Given the description of an element on the screen output the (x, y) to click on. 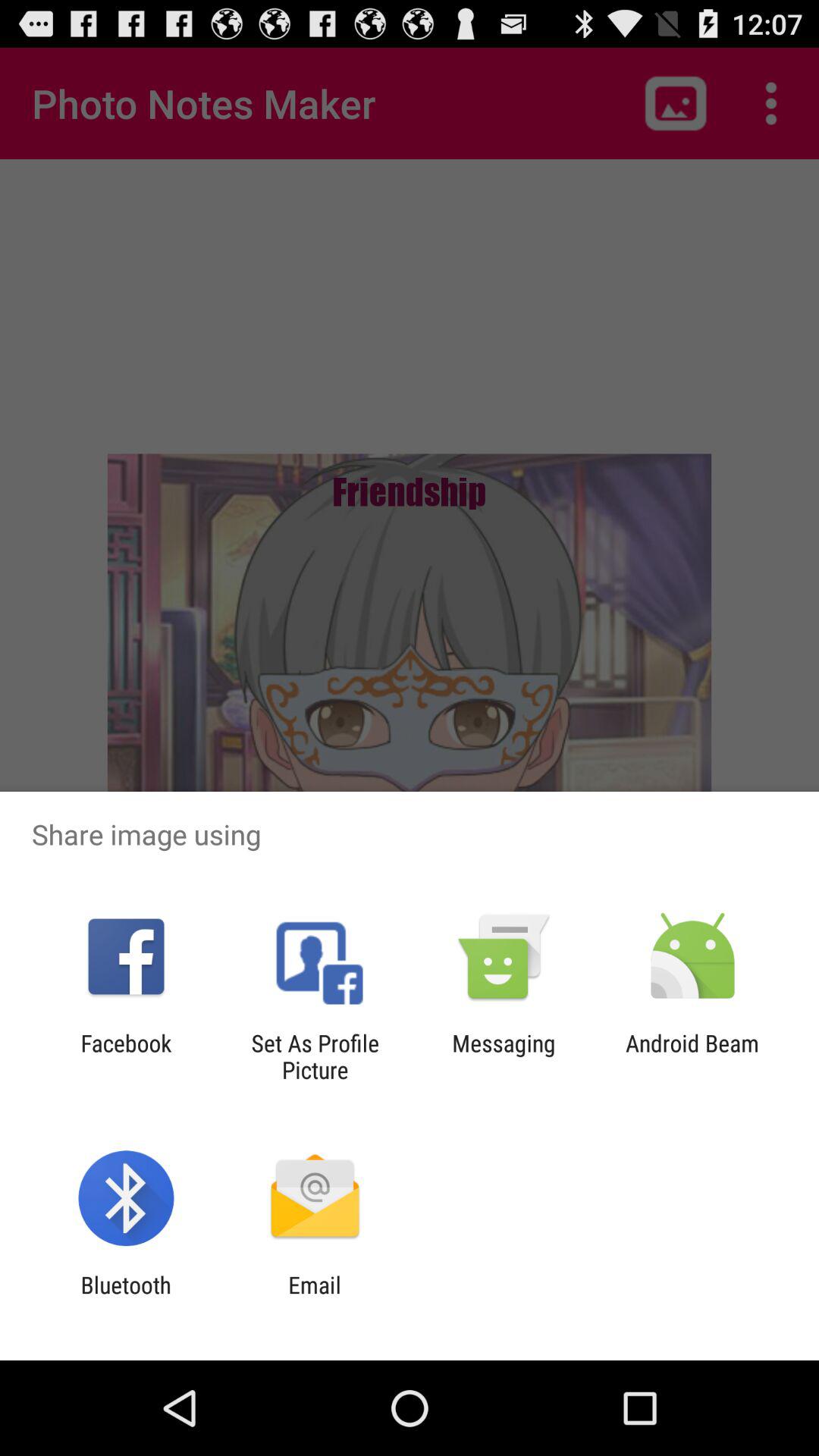
jump to bluetooth (125, 1298)
